Given the description of an element on the screen output the (x, y) to click on. 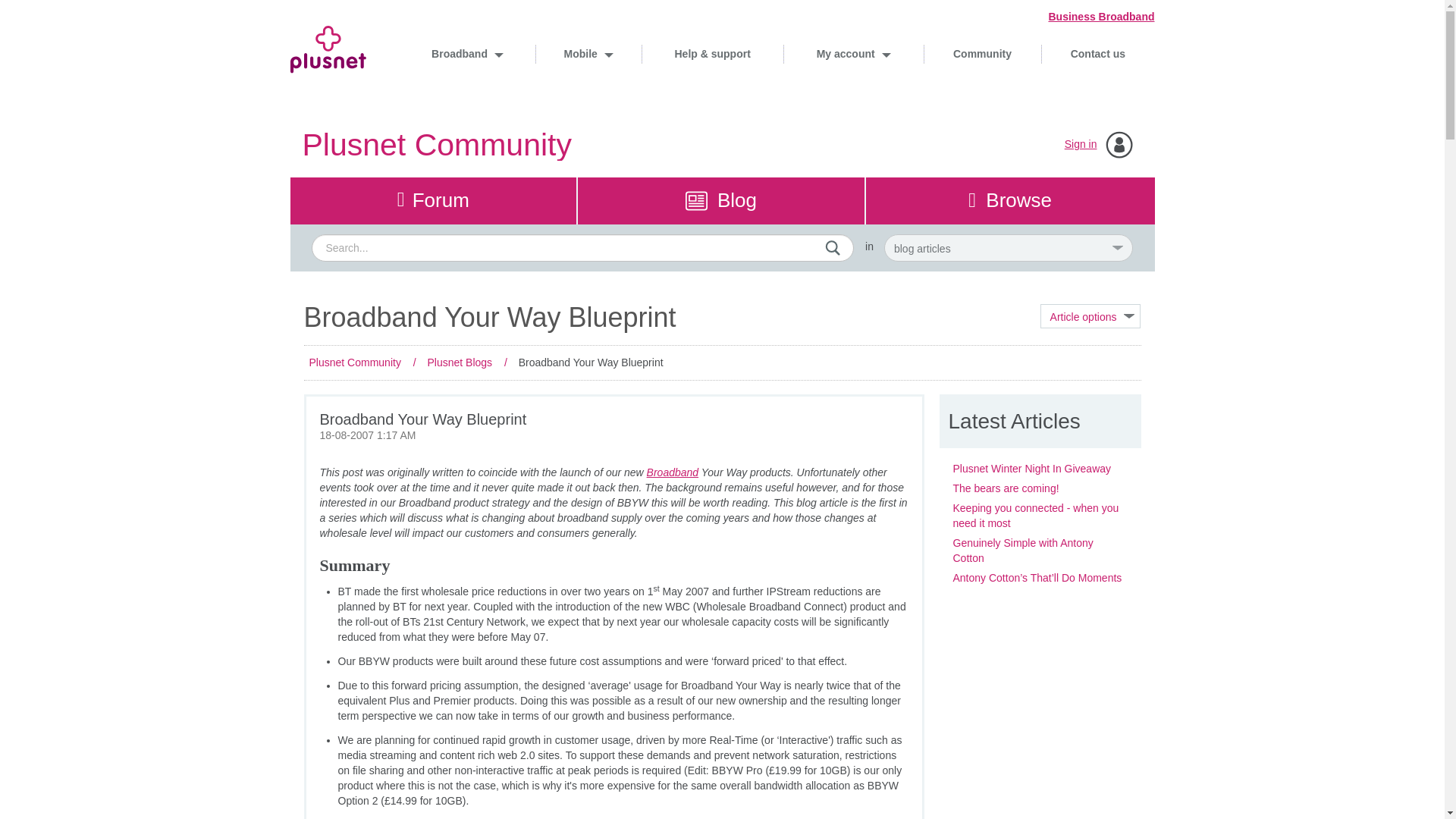
Search (582, 247)
Browse (1010, 200)
Show option menu (1090, 315)
Sign in (1080, 143)
My account (853, 53)
Plusnet Community (435, 144)
Topic Options (1090, 315)
Search (832, 247)
Set search granularity (1007, 247)
Mobile (587, 53)
Forum (432, 200)
Broadband (466, 53)
Search (832, 247)
Contact us (1097, 53)
Blog (721, 200)
